Given the description of an element on the screen output the (x, y) to click on. 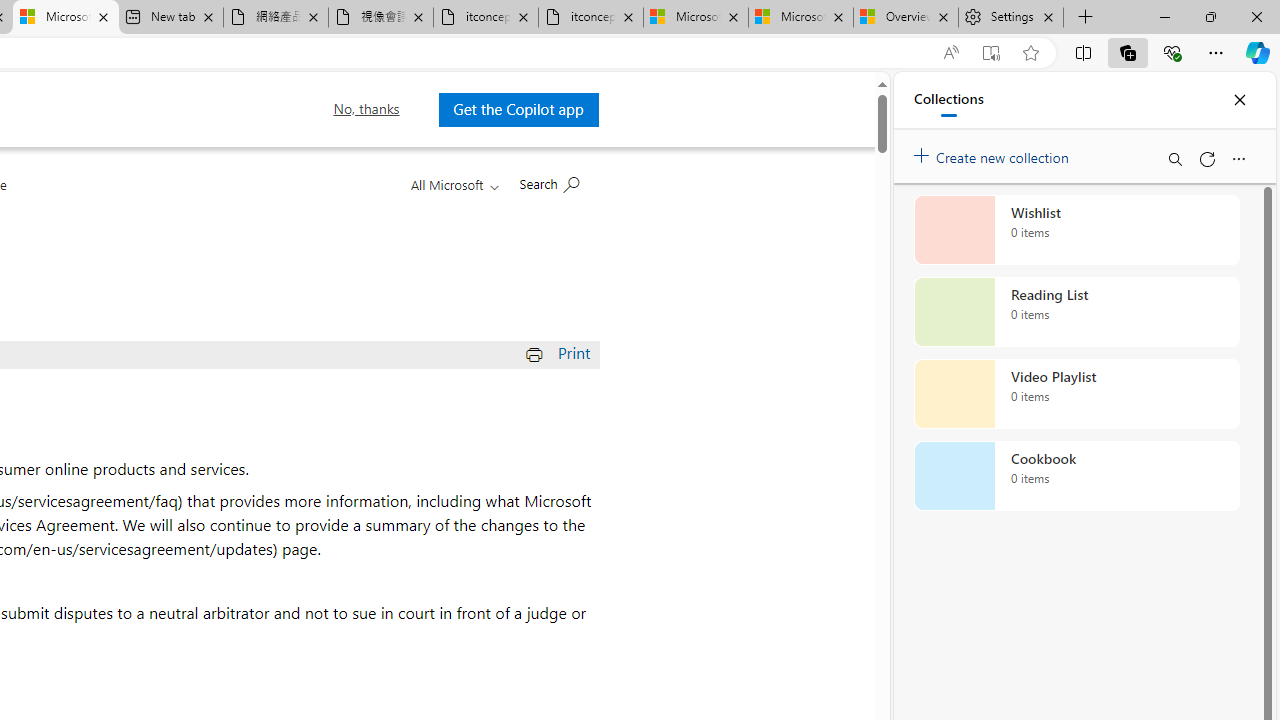
No, thanks (366, 109)
Create new collection (994, 153)
